Given the description of an element on the screen output the (x, y) to click on. 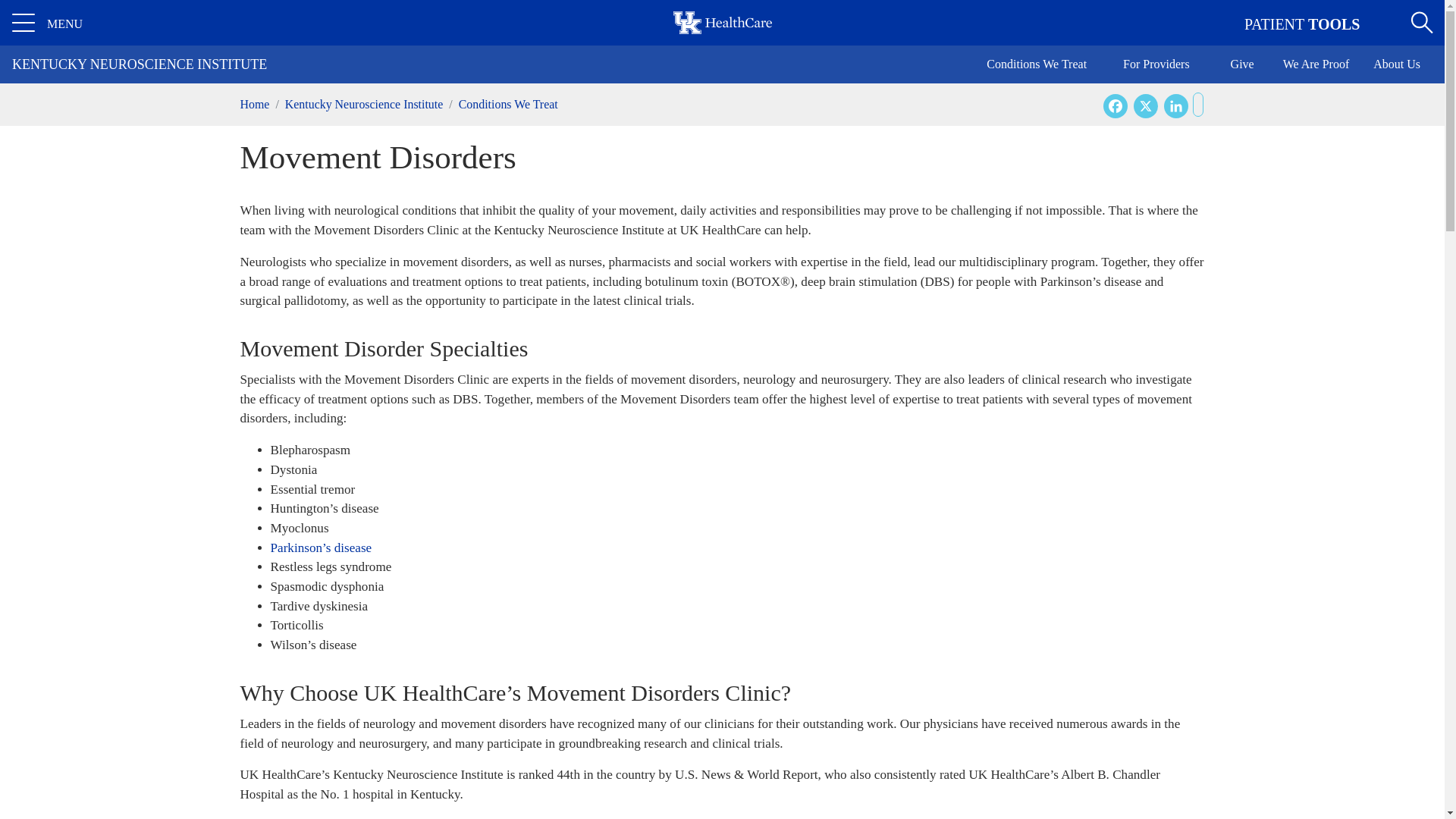
Skip to main content (721, 1)
